Given the description of an element on the screen output the (x, y) to click on. 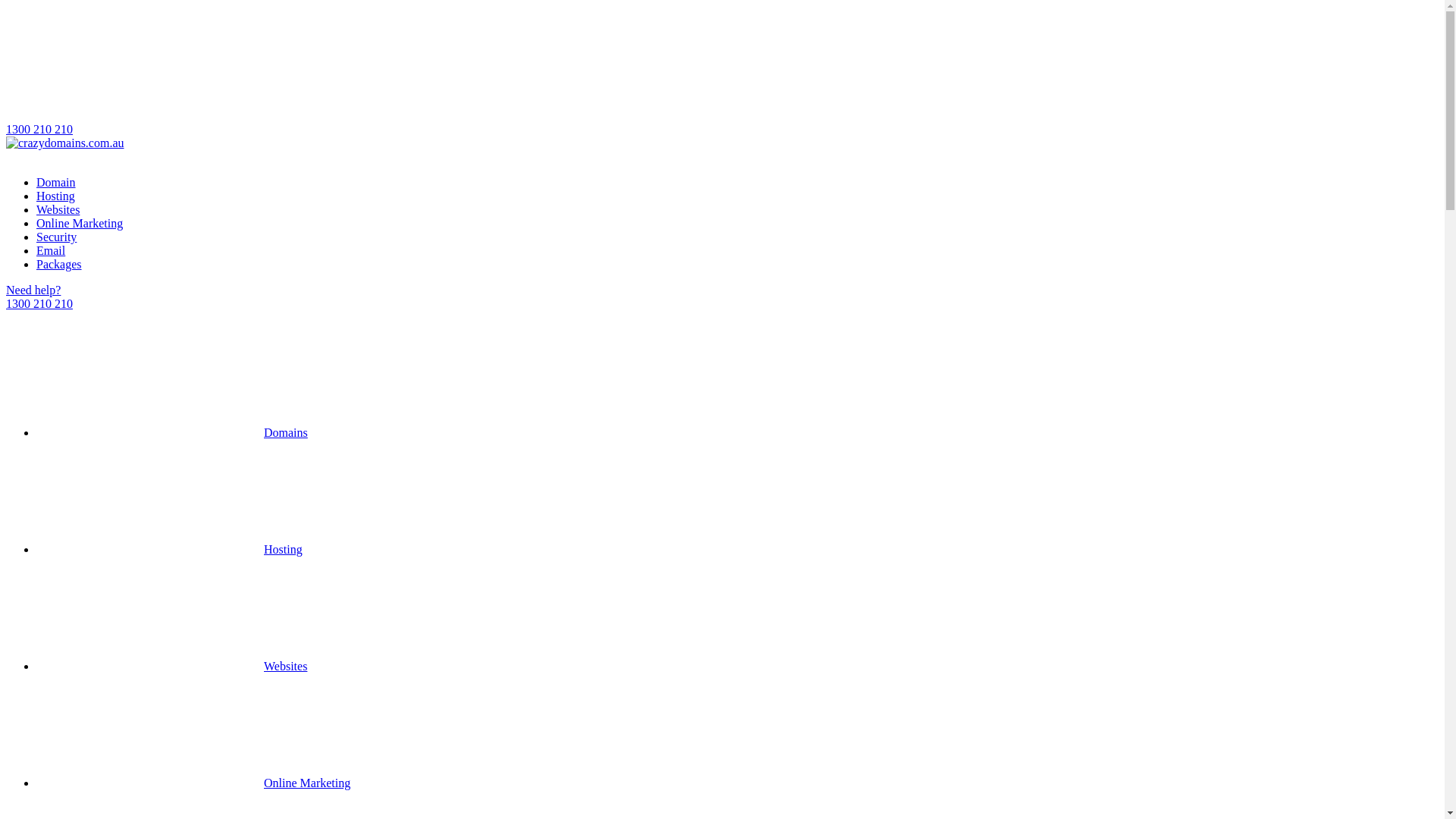
Email Element type: text (50, 250)
Hosting Element type: text (169, 548)
Need help?
1300 210 210 Element type: text (722, 296)
Websites Element type: text (57, 209)
Domain Element type: text (55, 181)
Websites Element type: text (171, 665)
Online Marketing Element type: text (79, 222)
1300 210 210 Element type: text (722, 70)
Security Element type: text (56, 236)
Online Marketing Element type: text (193, 782)
Hosting Element type: text (55, 195)
Domains Element type: text (171, 432)
Packages Element type: text (58, 263)
